Given the description of an element on the screen output the (x, y) to click on. 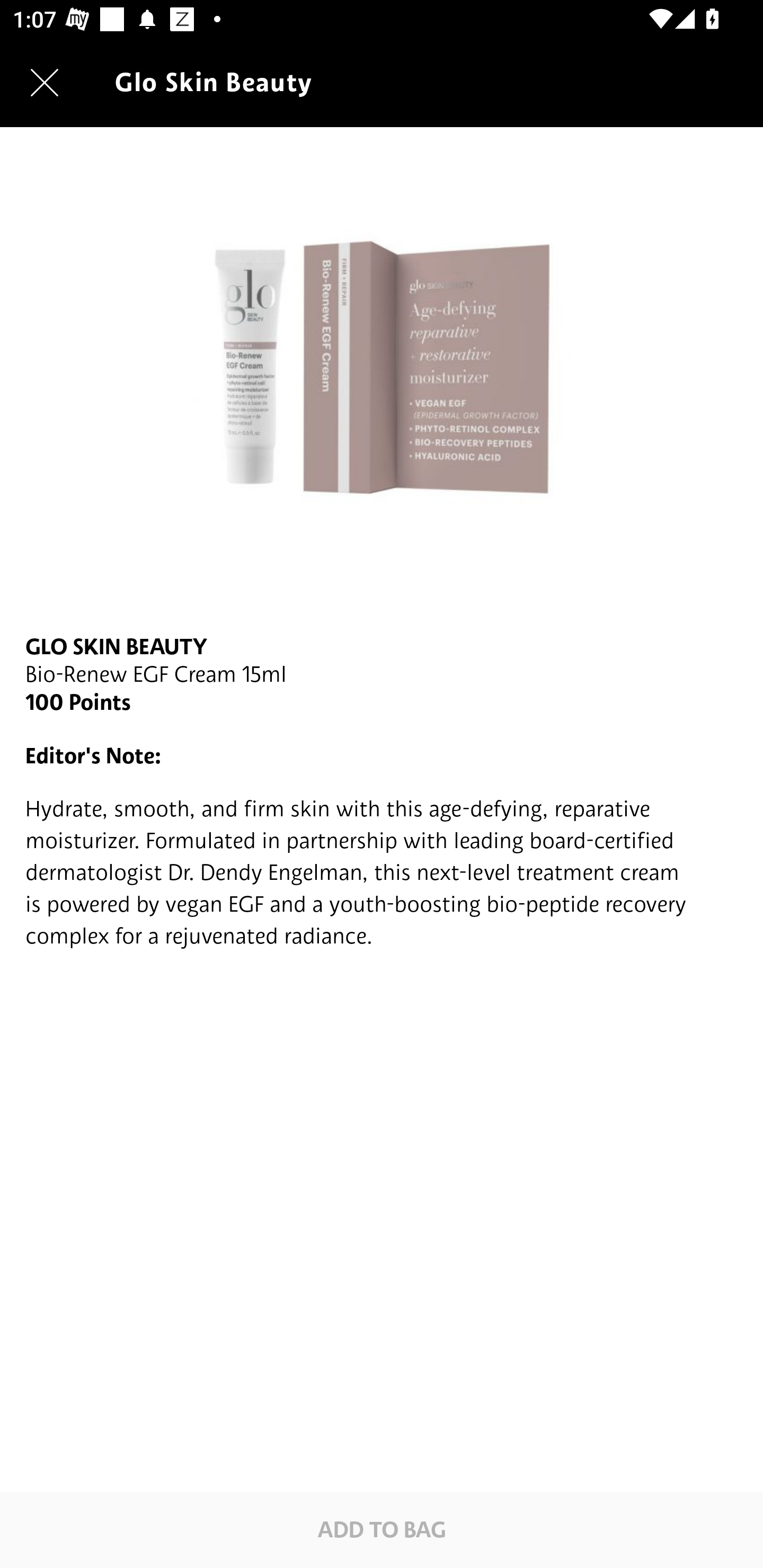
ADD TO BAG (381, 1529)
